Given the description of an element on the screen output the (x, y) to click on. 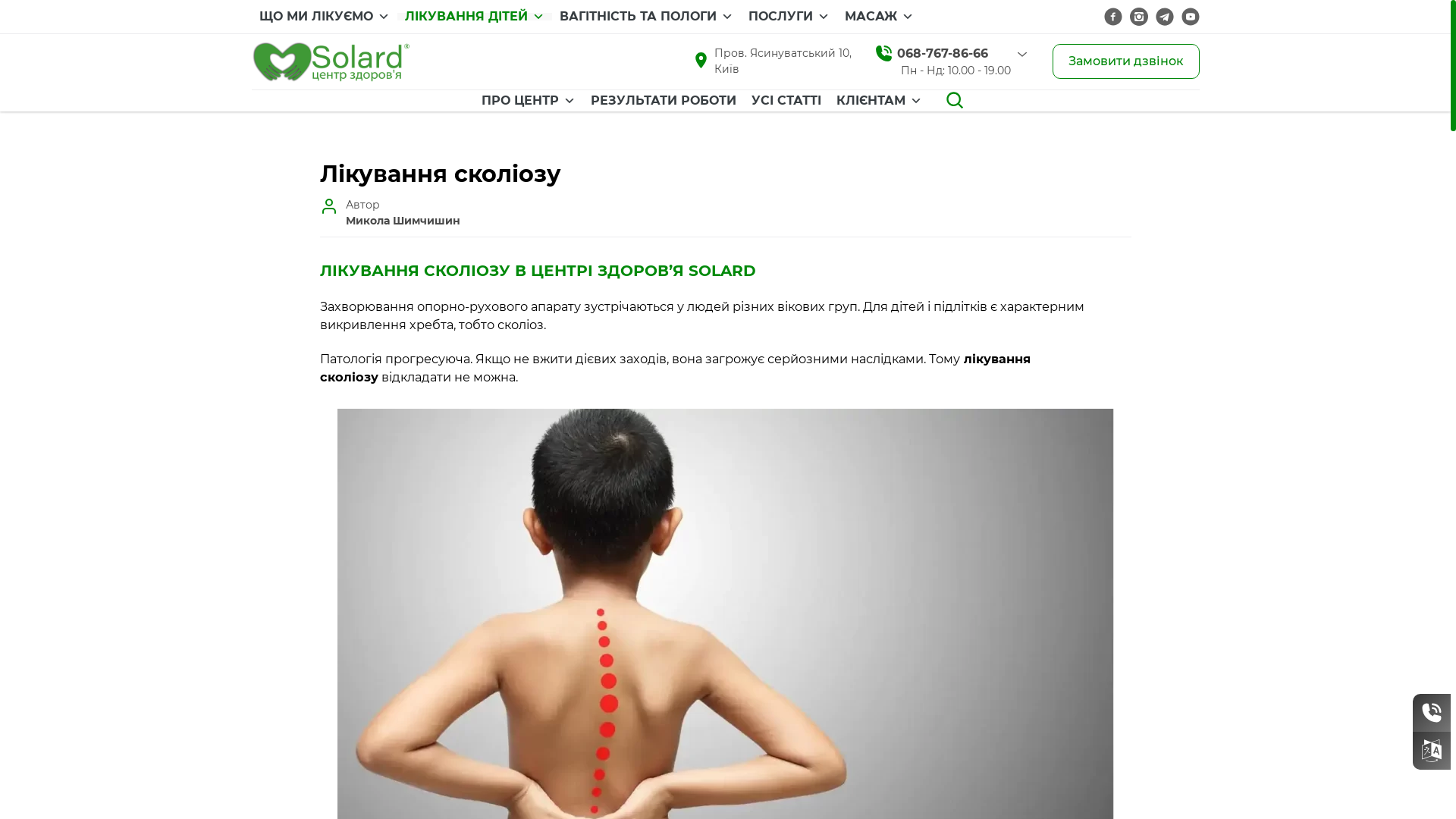
068-767-86-66 Element type: text (942, 53)
ua Element type: hover (1431, 750)
